Given the description of an element on the screen output the (x, y) to click on. 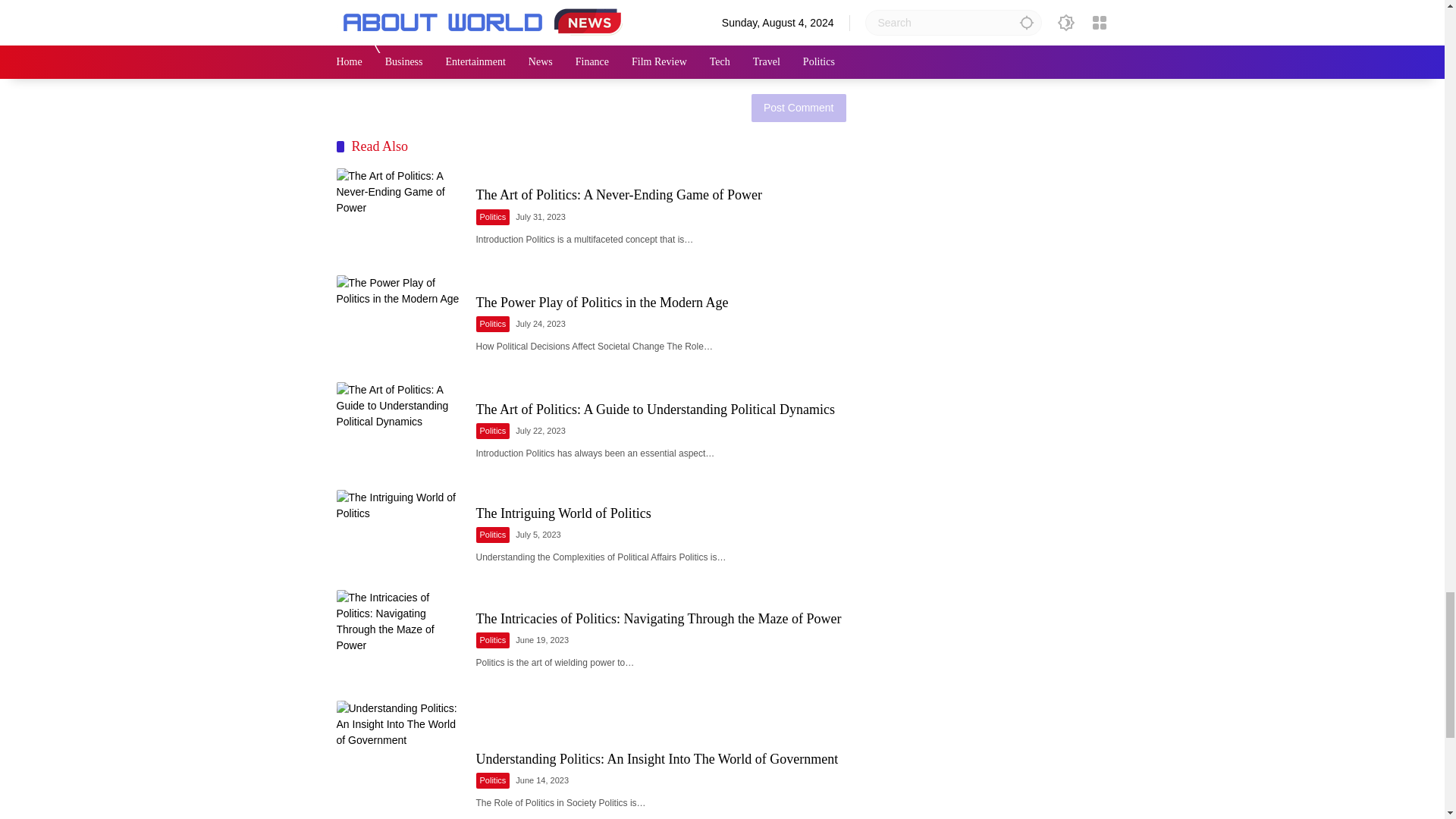
Post Comment (798, 108)
yes (342, 70)
